Given the description of an element on the screen output the (x, y) to click on. 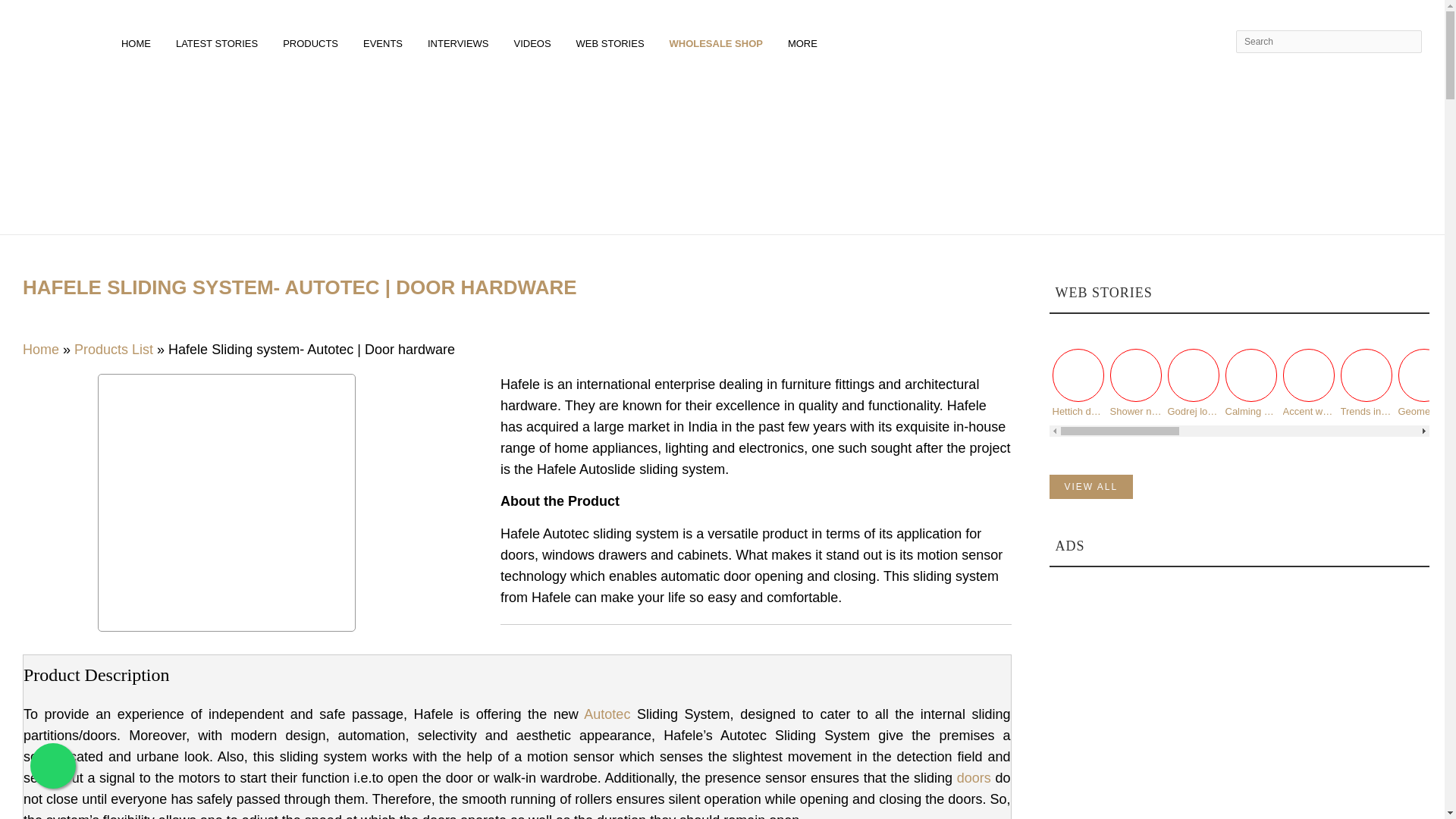
INTERVIEWS (460, 40)
HOME (138, 40)
MORE (804, 40)
WHOLESALE SHOP (718, 40)
VIDEOS (534, 40)
EVENTS (385, 40)
WEB STORIES (612, 40)
LATEST STORIES (219, 40)
PRODUCTS (313, 40)
